Given the description of an element on the screen output the (x, y) to click on. 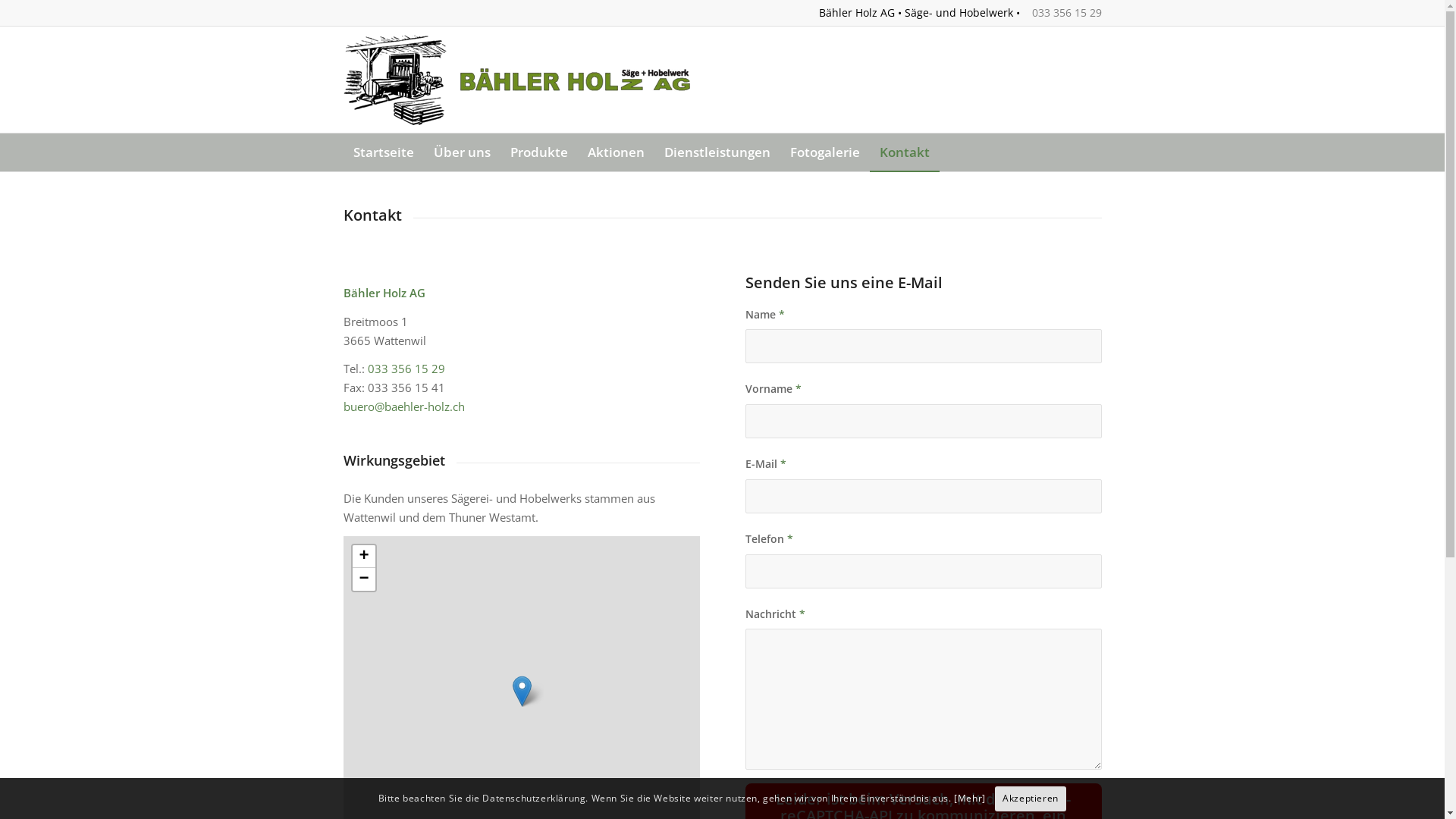
[Mehr] Element type: text (969, 797)
Startseite Element type: text (382, 152)
+ Element type: text (362, 556)
Produkte Element type: text (538, 152)
Aktionen Element type: text (615, 152)
Dienstleistungen Element type: text (716, 152)
Akzeptieren Element type: text (1030, 798)
033 356 15 29 Element type: text (405, 368)
buero@baehler-holz.ch Element type: text (403, 406)
Fotogalerie Element type: text (824, 152)
Kontakt Element type: text (903, 152)
